Given the description of an element on the screen output the (x, y) to click on. 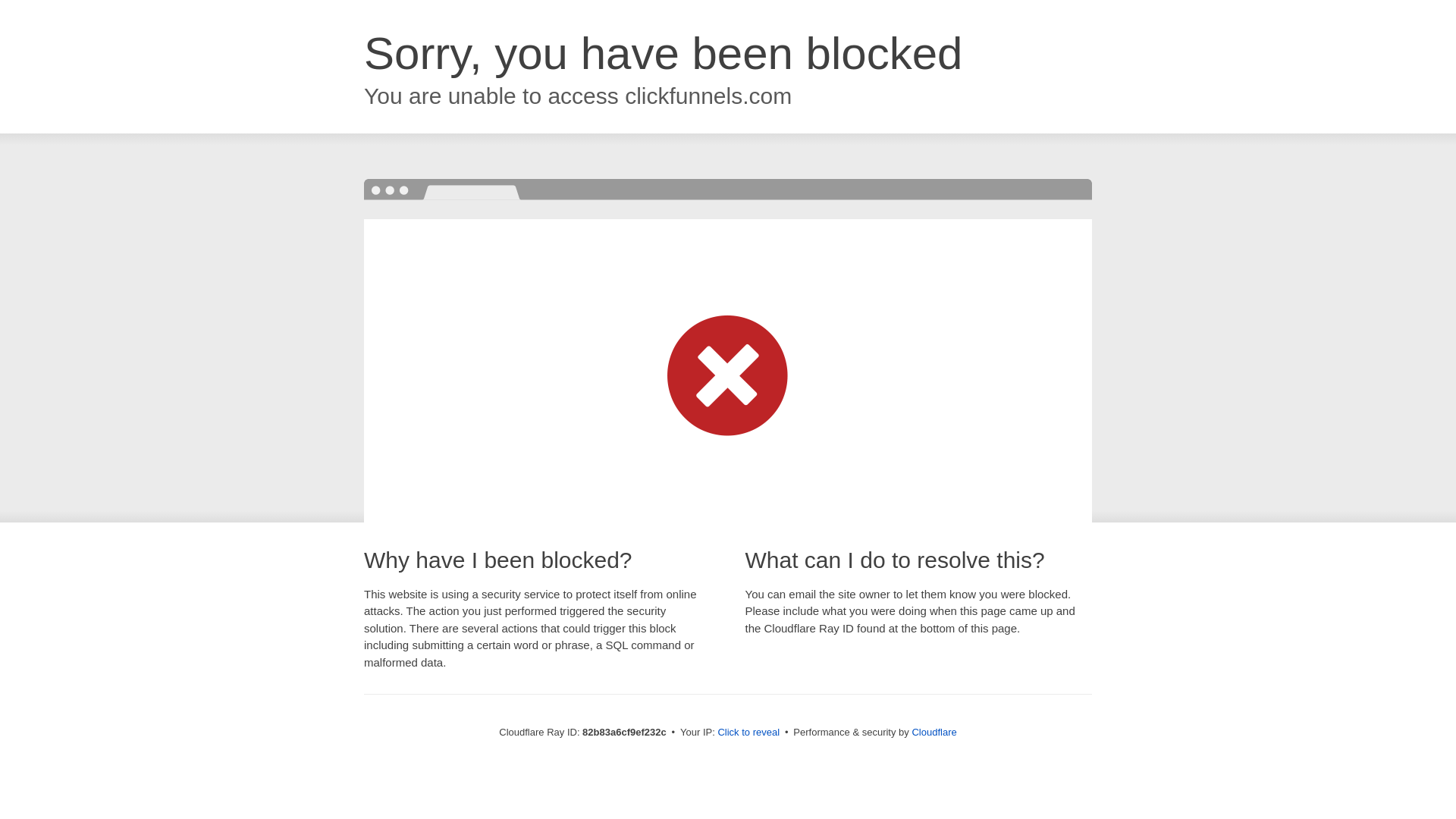
Click to reveal Element type: text (748, 732)
Cloudflare Element type: text (933, 731)
